Given the description of an element on the screen output the (x, y) to click on. 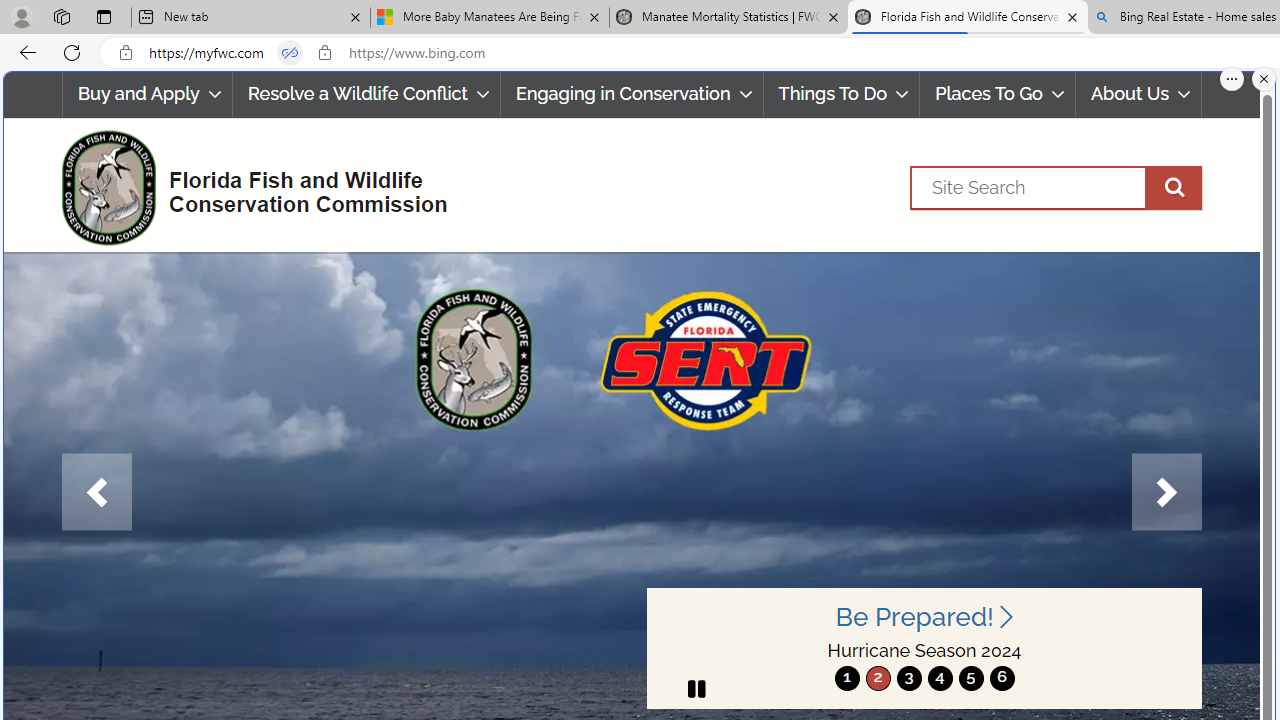
Things To Do (841, 94)
5 (970, 678)
2 (877, 678)
Manatee Mortality Statistics | FWC (729, 17)
Next (1166, 491)
FWC Logo (108, 187)
Be Prepared!  (923, 616)
View site information (324, 53)
Places To Go (998, 94)
Resolve a Wildlife Conflict (365, 94)
